Given the description of an element on the screen output the (x, y) to click on. 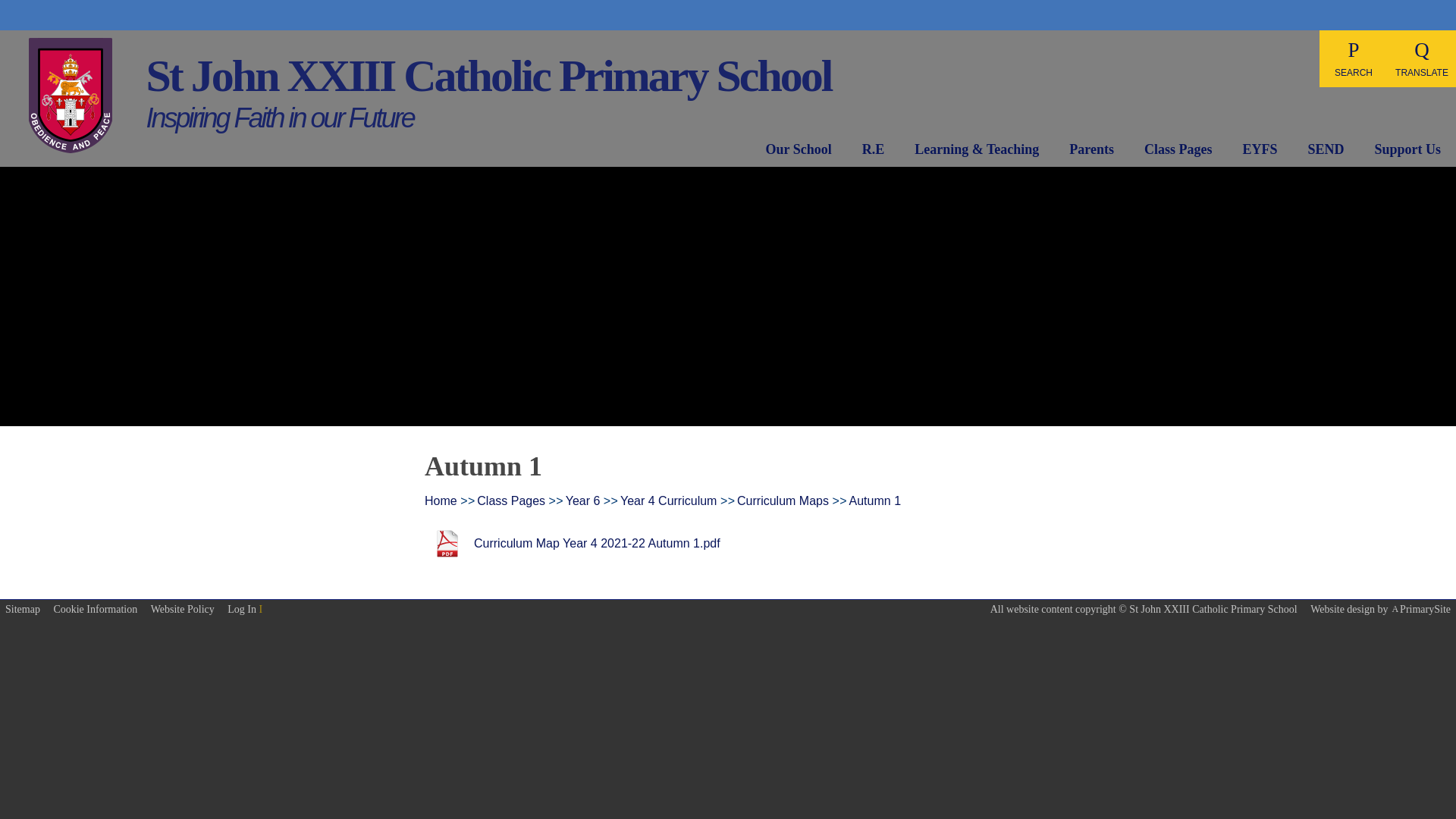
Our School (798, 152)
